Given the description of an element on the screen output the (x, y) to click on. 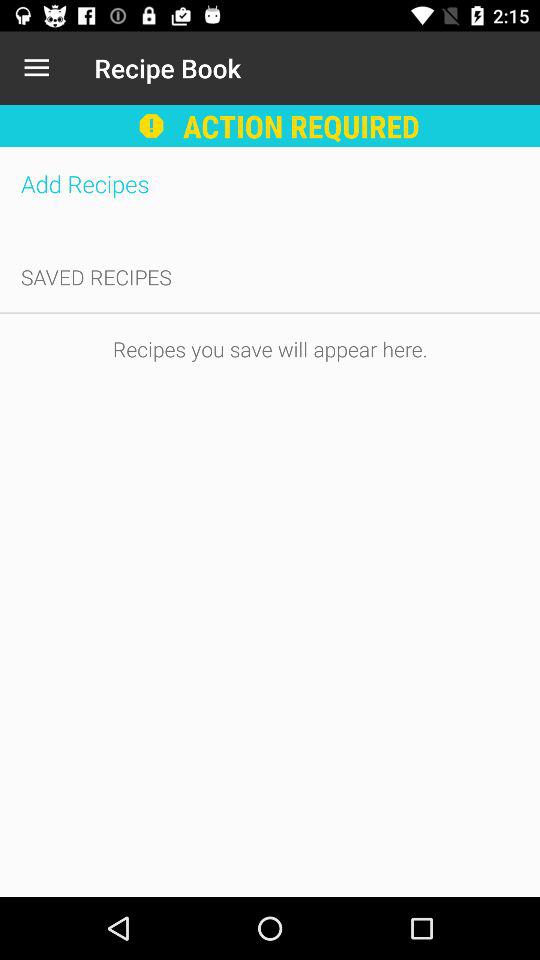
tap item above the add recipes item (36, 68)
